Given the description of an element on the screen output the (x, y) to click on. 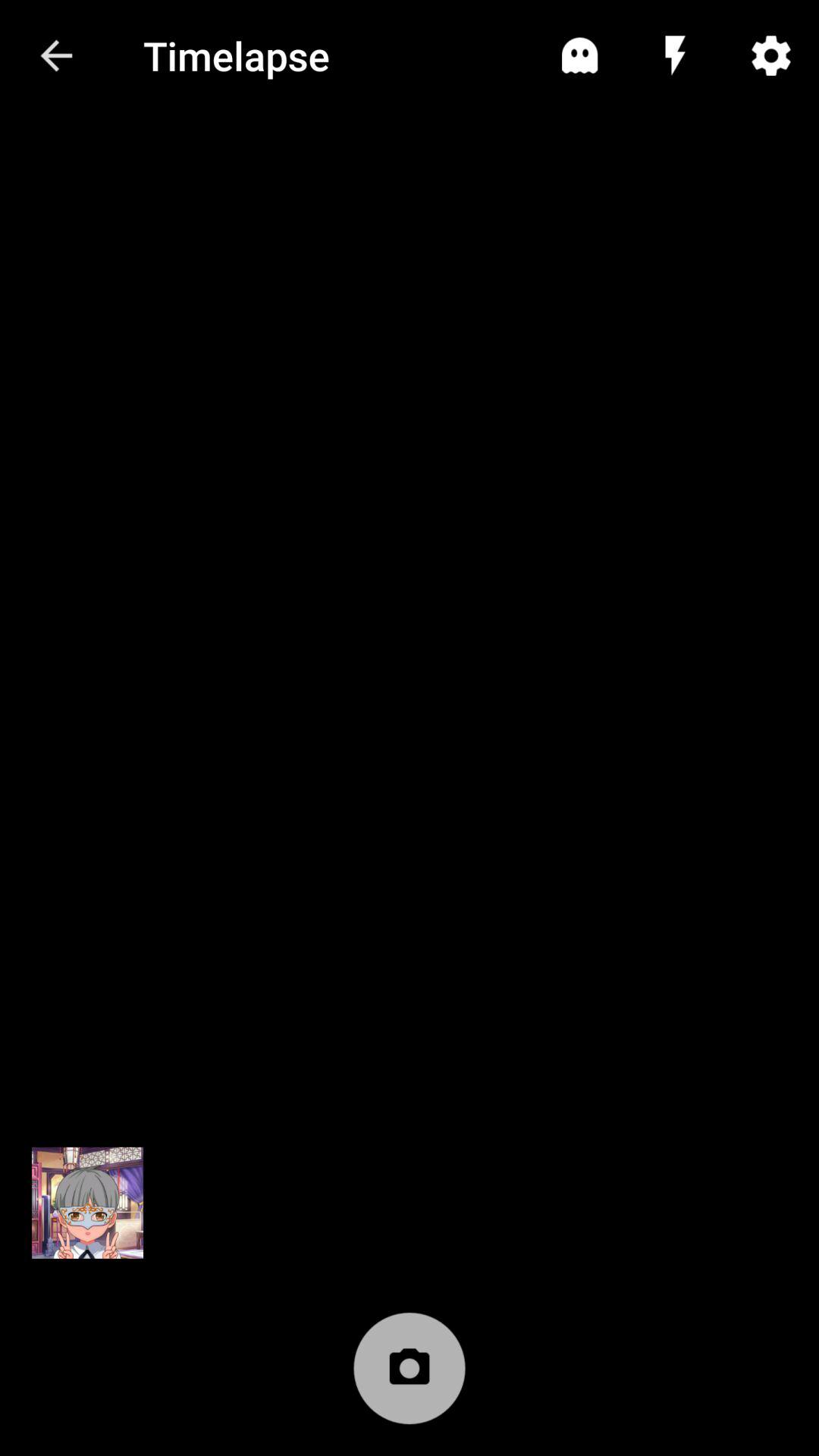
select the item to the left of timelapse icon (55, 55)
